Given the description of an element on the screen output the (x, y) to click on. 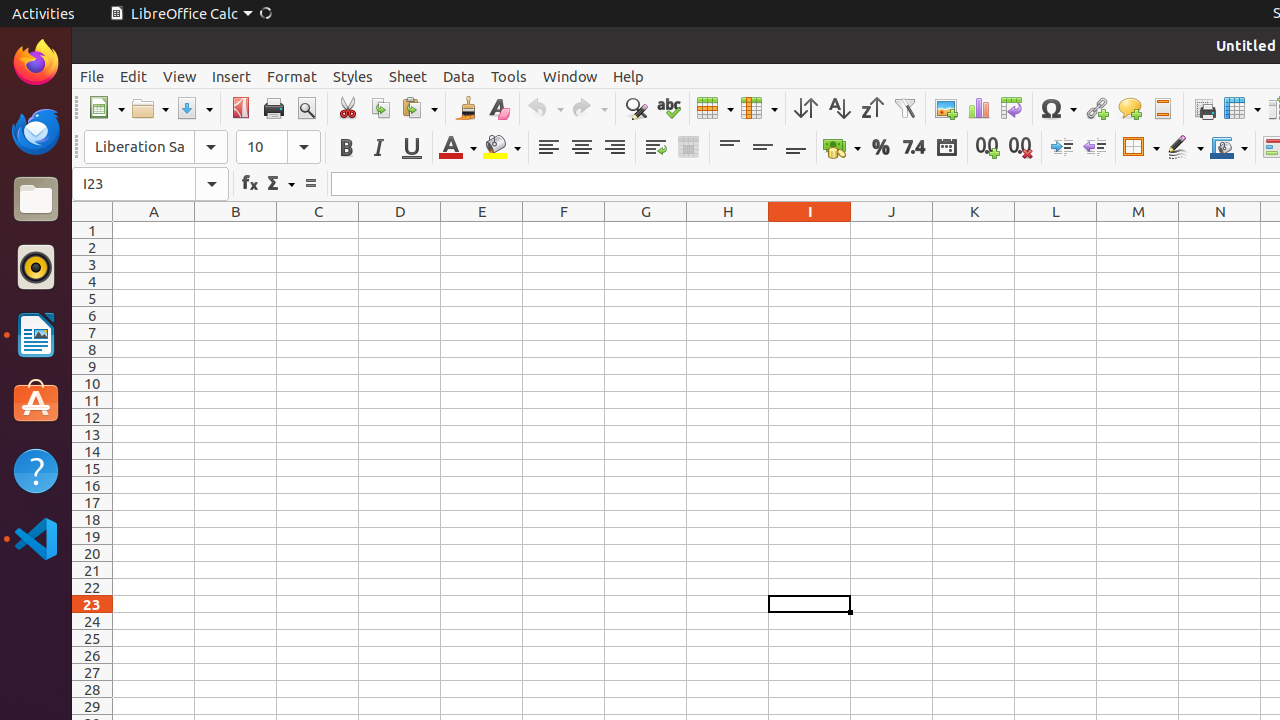
Open Element type: push-button (150, 108)
Add Decimal Place Element type: push-button (987, 147)
View Element type: menu (179, 76)
Formula Element type: push-button (310, 183)
